Given the description of an element on the screen output the (x, y) to click on. 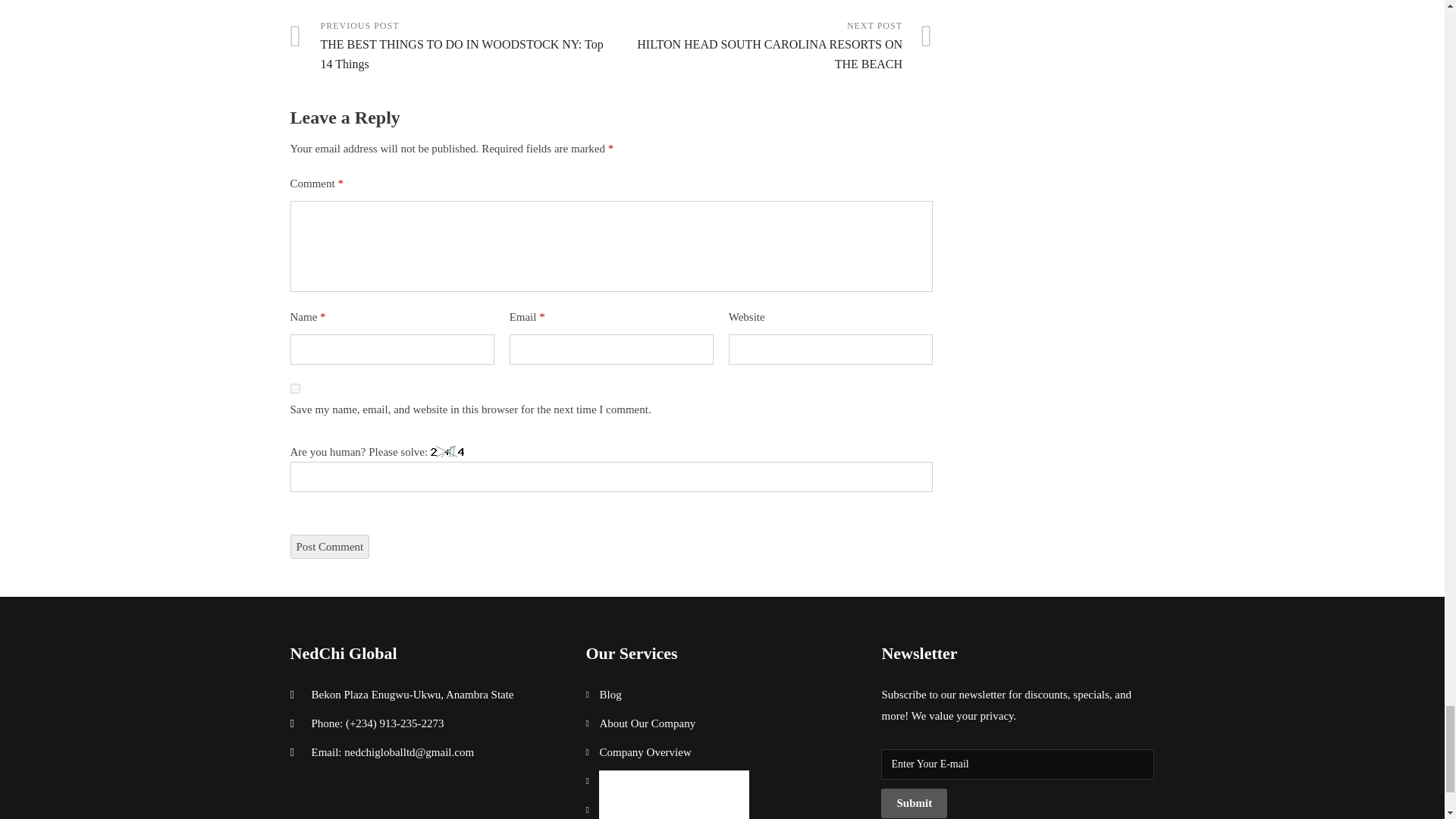
THE BEST THINGS TO DO IN WOODSTOCK NY: Top 14 Things (450, 46)
Enter Your E-mail (1017, 764)
yes (294, 388)
Post Comment (329, 546)
HILTON HEAD SOUTH CAROLINA RESORTS ON THE BEACH (772, 46)
